Given the description of an element on the screen output the (x, y) to click on. 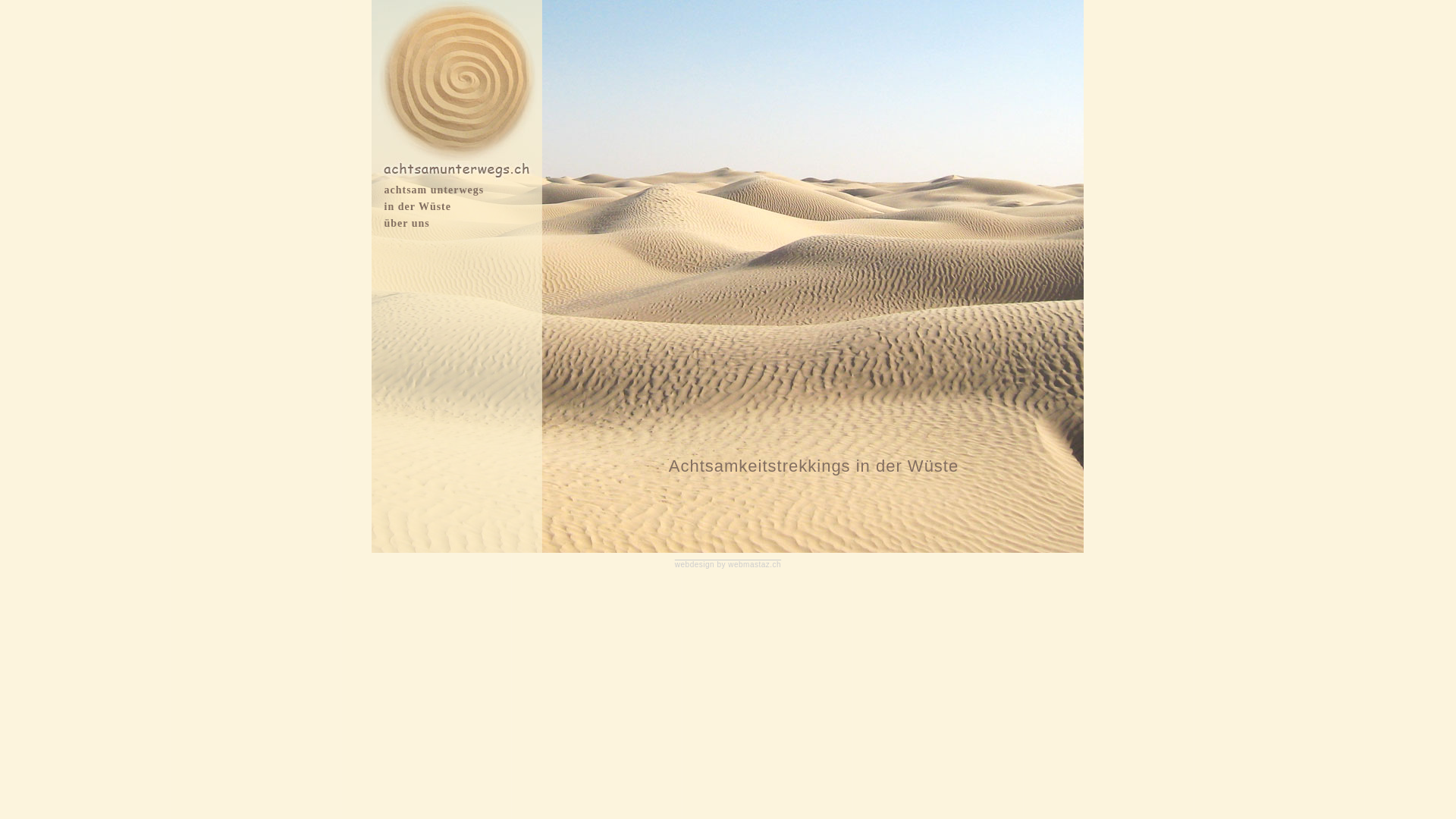
webdesign by webmastaz.ch Element type: text (727, 564)
achtsam unterwegs Element type: text (433, 189)
